Given the description of an element on the screen output the (x, y) to click on. 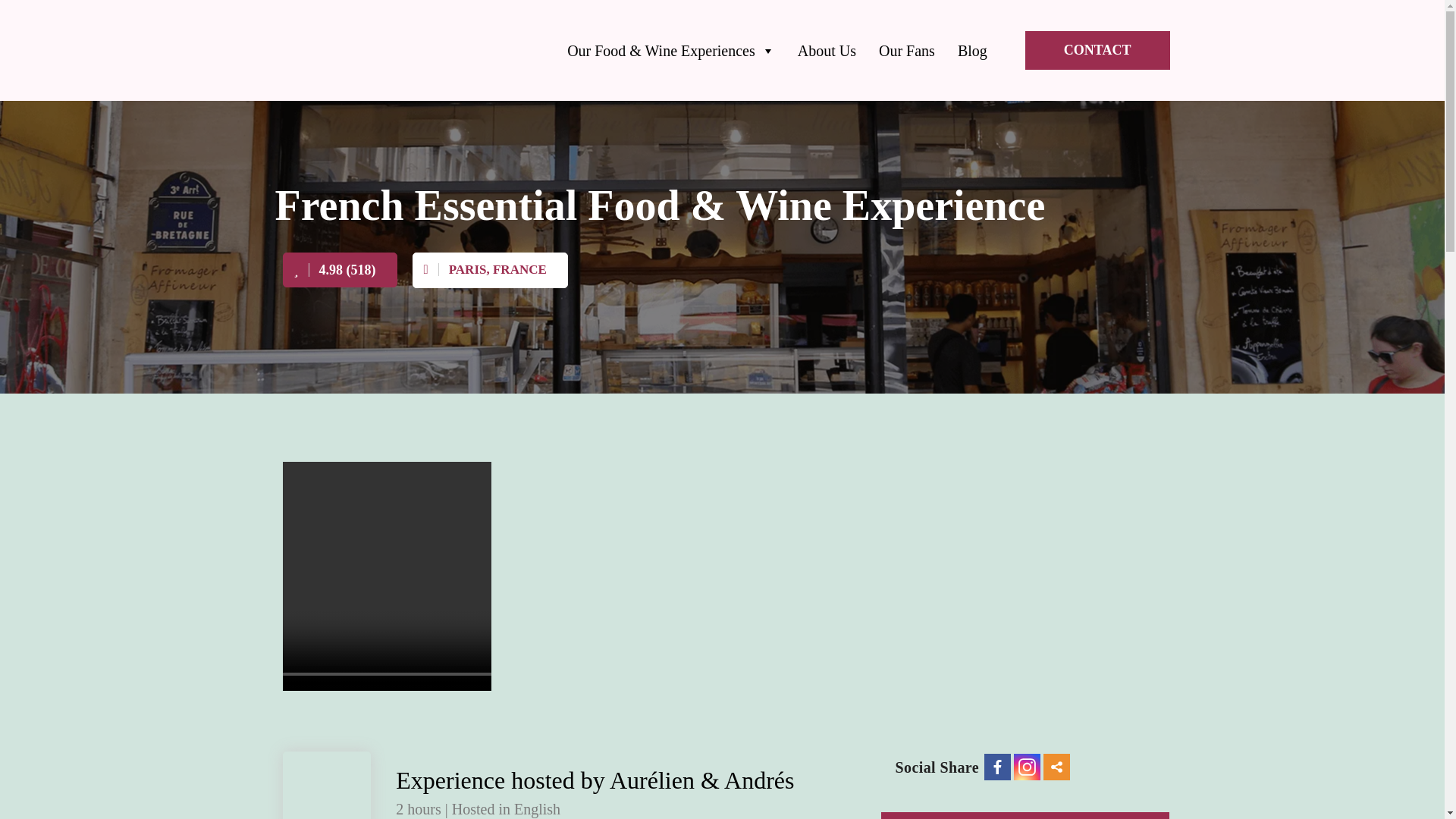
Blog (972, 50)
Our Fans (906, 50)
About Us (826, 50)
Instagram (1027, 766)
CONTACT (1097, 50)
PARIS, FRANCE (489, 270)
More (1056, 766)
Facebook (997, 766)
